Given the description of an element on the screen output the (x, y) to click on. 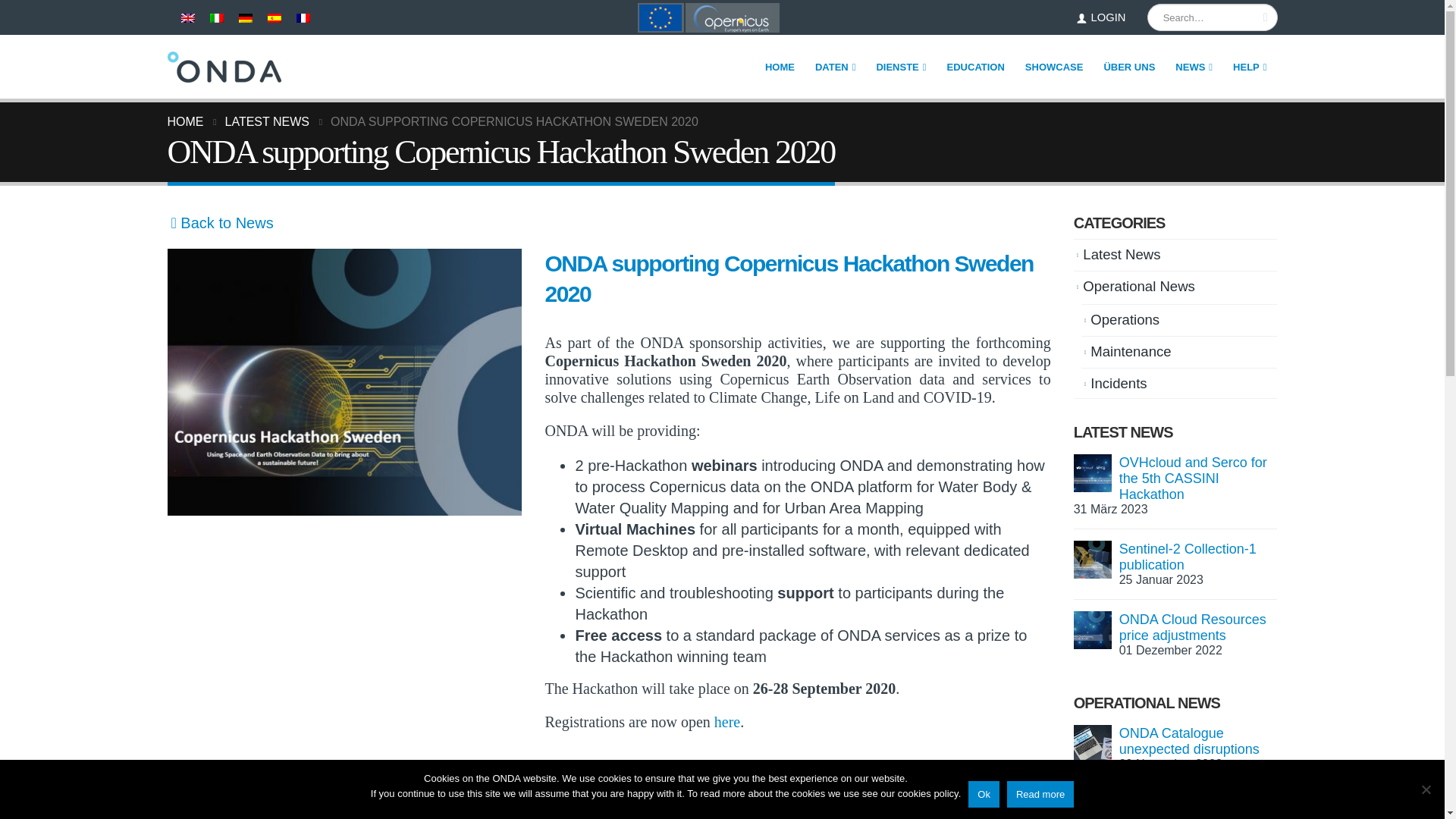
NEWS (1194, 66)
Italiano (215, 17)
SHOWCASE (1053, 66)
HOME (780, 66)
English (186, 17)
Deutsch (244, 17)
EDUCATION (975, 66)
HELP (1249, 66)
DATEN (835, 66)
ONDA-DIAS - People on data (224, 66)
